Given the description of an element on the screen output the (x, y) to click on. 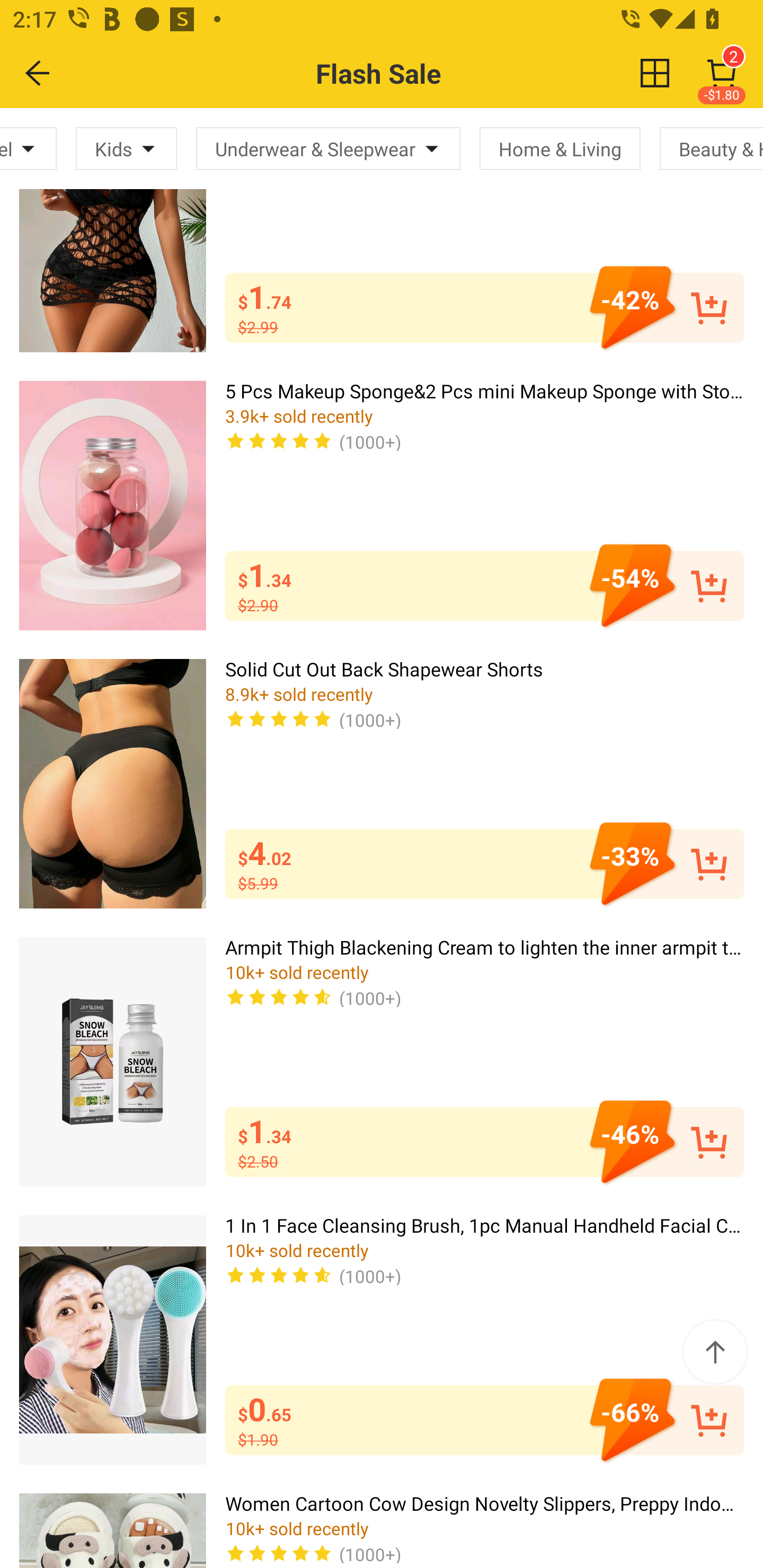
Flash Sale change view 2 -$1.80 (419, 72)
2 -$1.80 (721, 72)
change view (654, 72)
BACK (38, 72)
Hollow Out Halter Cover Up Dress Without Bikini (112, 230)
Men Apparel (28, 148)
Kids (126, 148)
Underwear & Sleepwear (328, 148)
Home & Living (559, 148)
Solid Cut Out Back Shapewear Shorts (112, 782)
Back to top (714, 1351)
